Given the description of an element on the screen output the (x, y) to click on. 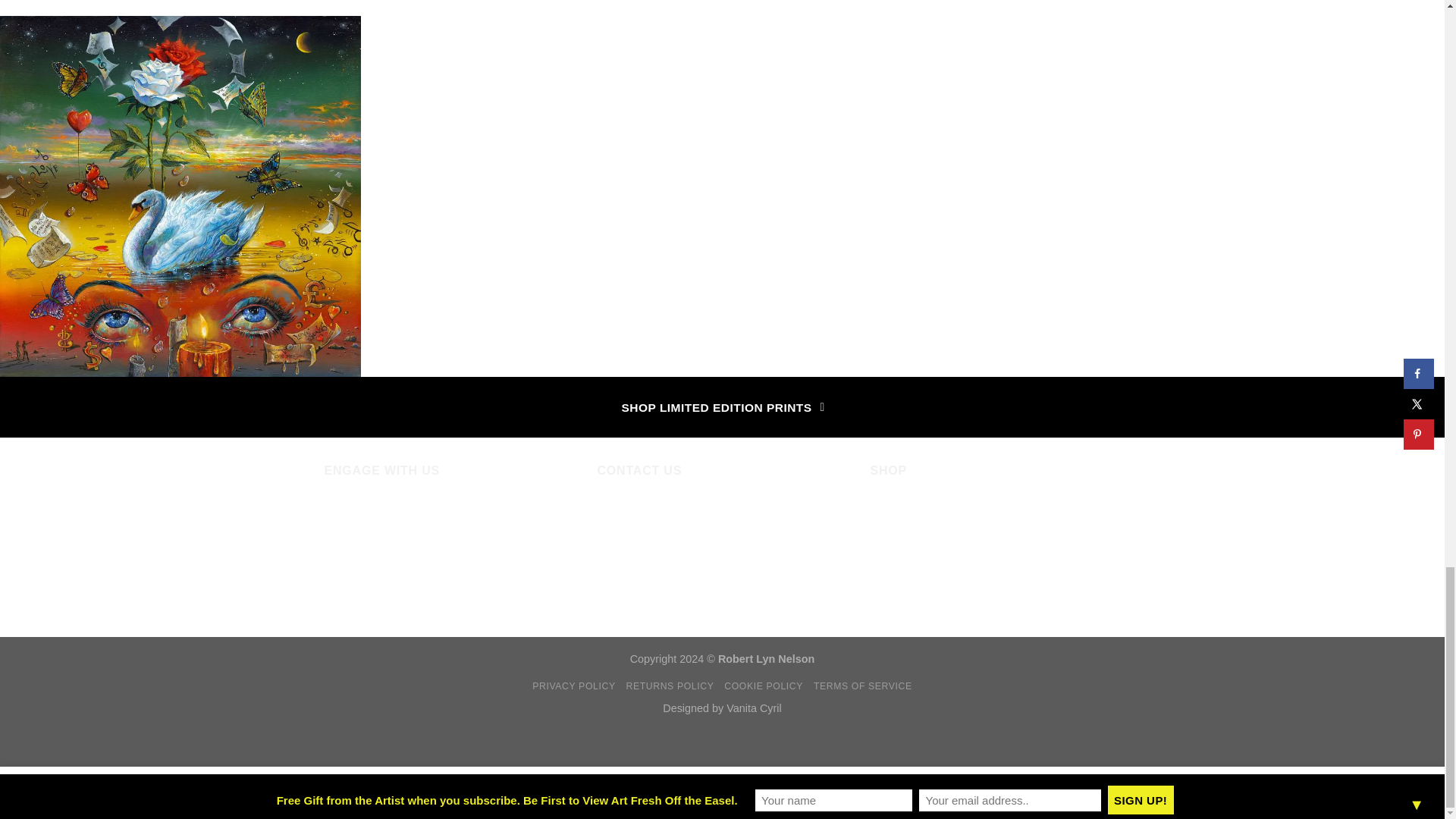
PRIVACY POLICY (573, 685)
Limited Edition Prints (926, 556)
RETURNS POLICY (669, 685)
Follow on Facebook (337, 514)
Follow on Instagram (364, 514)
Elite Collection (909, 506)
TERMS OF SERVICE (862, 685)
Vanita Cyril (753, 707)
SHOP LIMITED EDITION PRINTS (721, 406)
Signature Collection (923, 531)
COOKIE POLICY (763, 685)
